Given the description of an element on the screen output the (x, y) to click on. 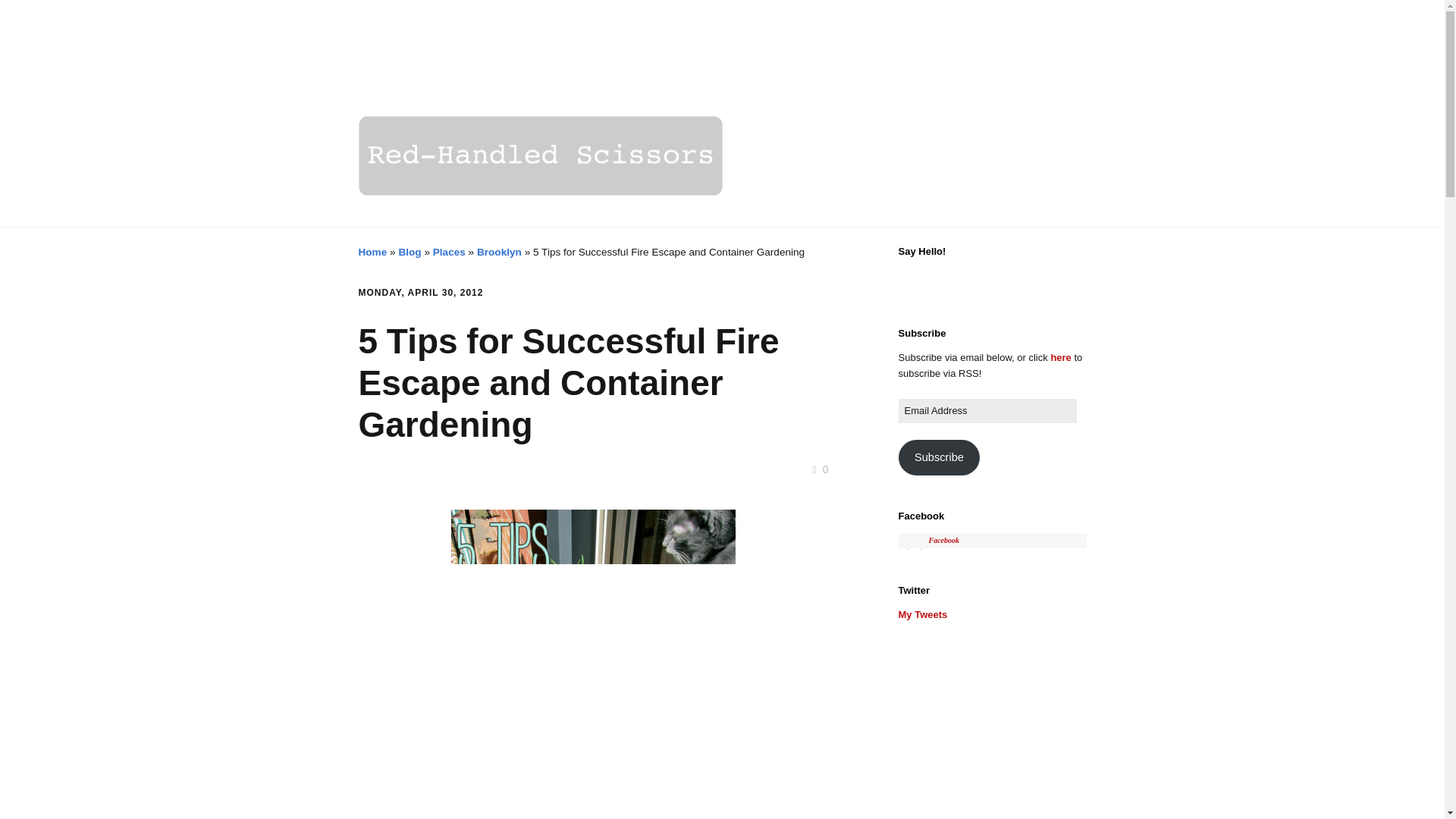
Search (33, 17)
Places (448, 251)
Blog (408, 251)
Home (372, 251)
Brooklyn (499, 251)
